Given the description of an element on the screen output the (x, y) to click on. 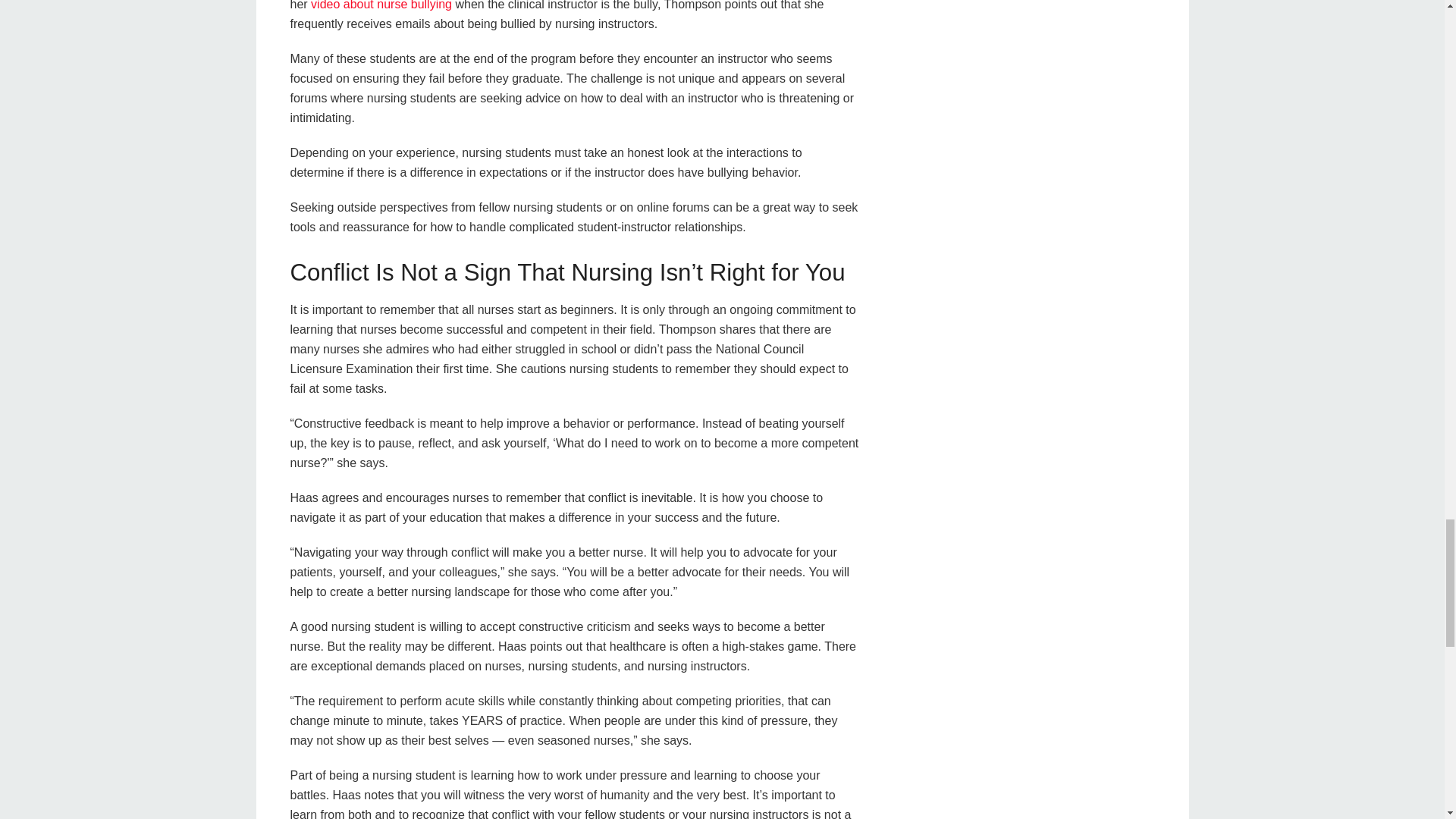
video about nurse bullying (381, 5)
